Given the description of an element on the screen output the (x, y) to click on. 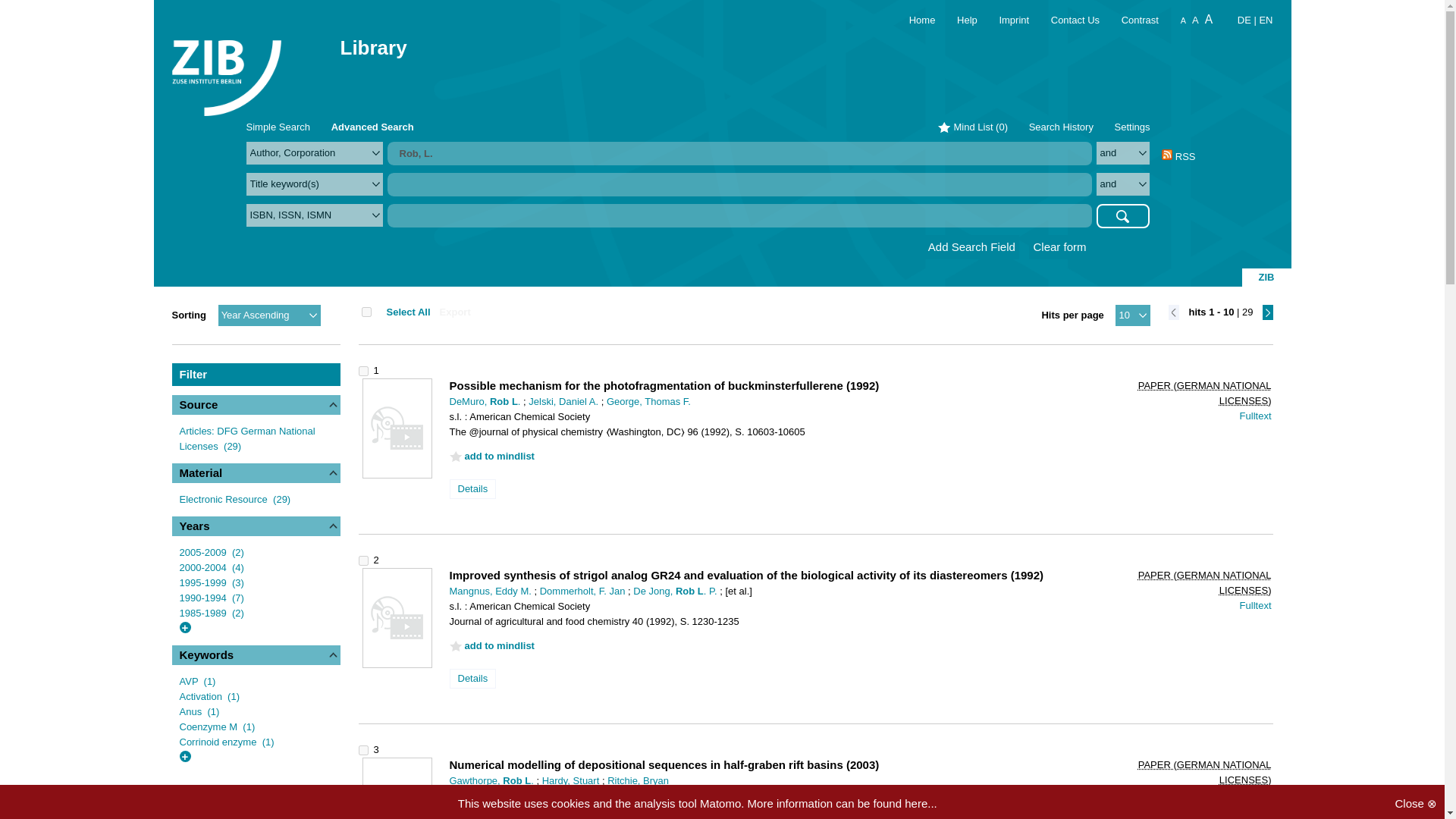
Simple Search (278, 126)
Articles: DFG German National Licenses (246, 438)
E-Mail an ZIB (1067, 19)
Search (1123, 215)
Home (912, 19)
Settings (1132, 126)
Imprint (1004, 19)
ZIB Library (226, 68)
on (366, 311)
Contact Us (1067, 19)
